Given the description of an element on the screen output the (x, y) to click on. 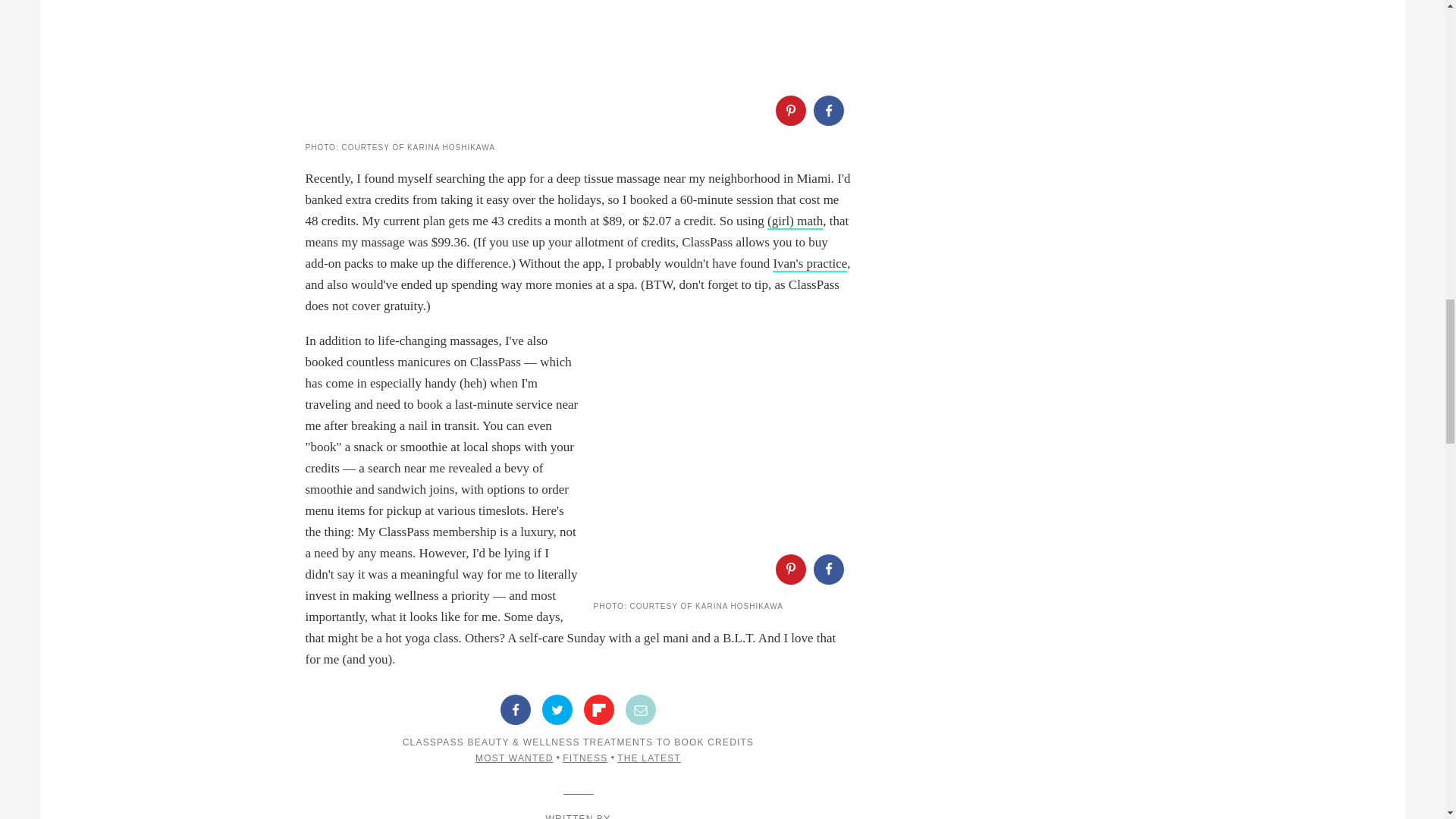
Share on Twitter (556, 709)
Share on Pinterest (789, 110)
Ivan's practice (810, 263)
Share on Flipboard (598, 709)
Share on Pinterest (789, 568)
Share by Email (641, 709)
